Given the description of an element on the screen output the (x, y) to click on. 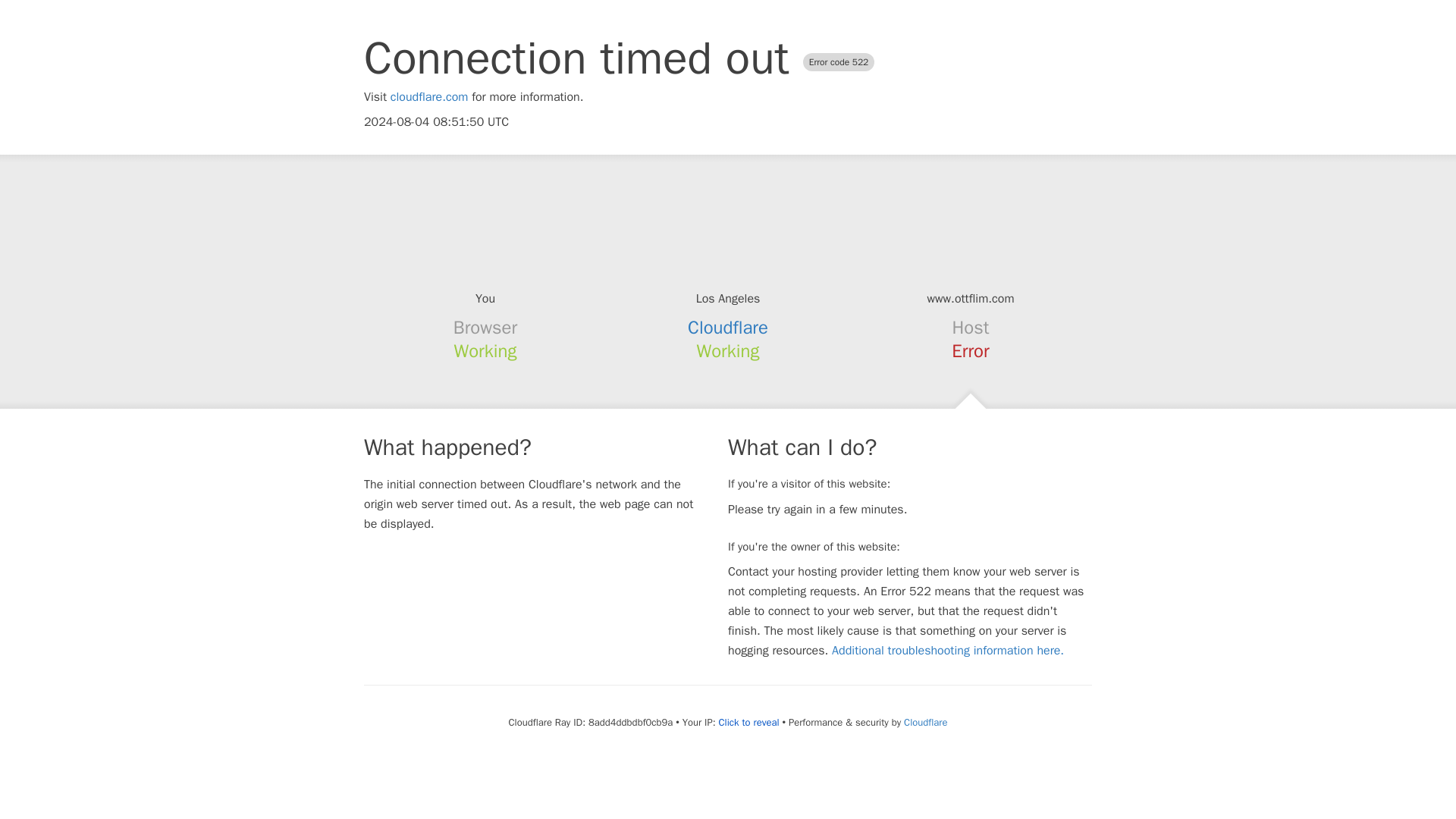
Cloudflare (925, 721)
Cloudflare (727, 327)
Additional troubleshooting information here. (947, 650)
Click to reveal (748, 722)
cloudflare.com (429, 96)
